Given the description of an element on the screen output the (x, y) to click on. 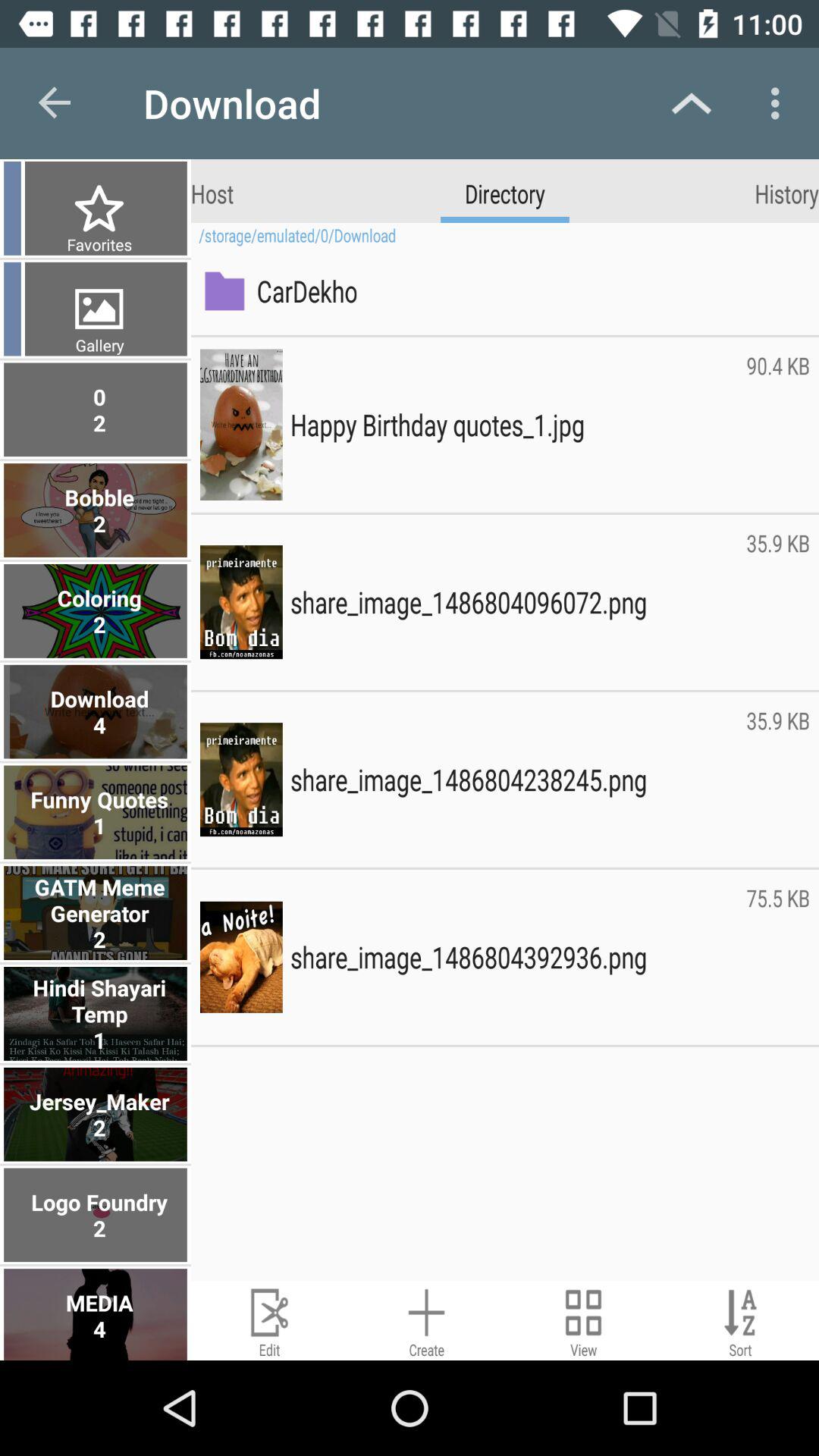
turn on the jersey_maker
2 icon (97, 1114)
